Given the description of an element on the screen output the (x, y) to click on. 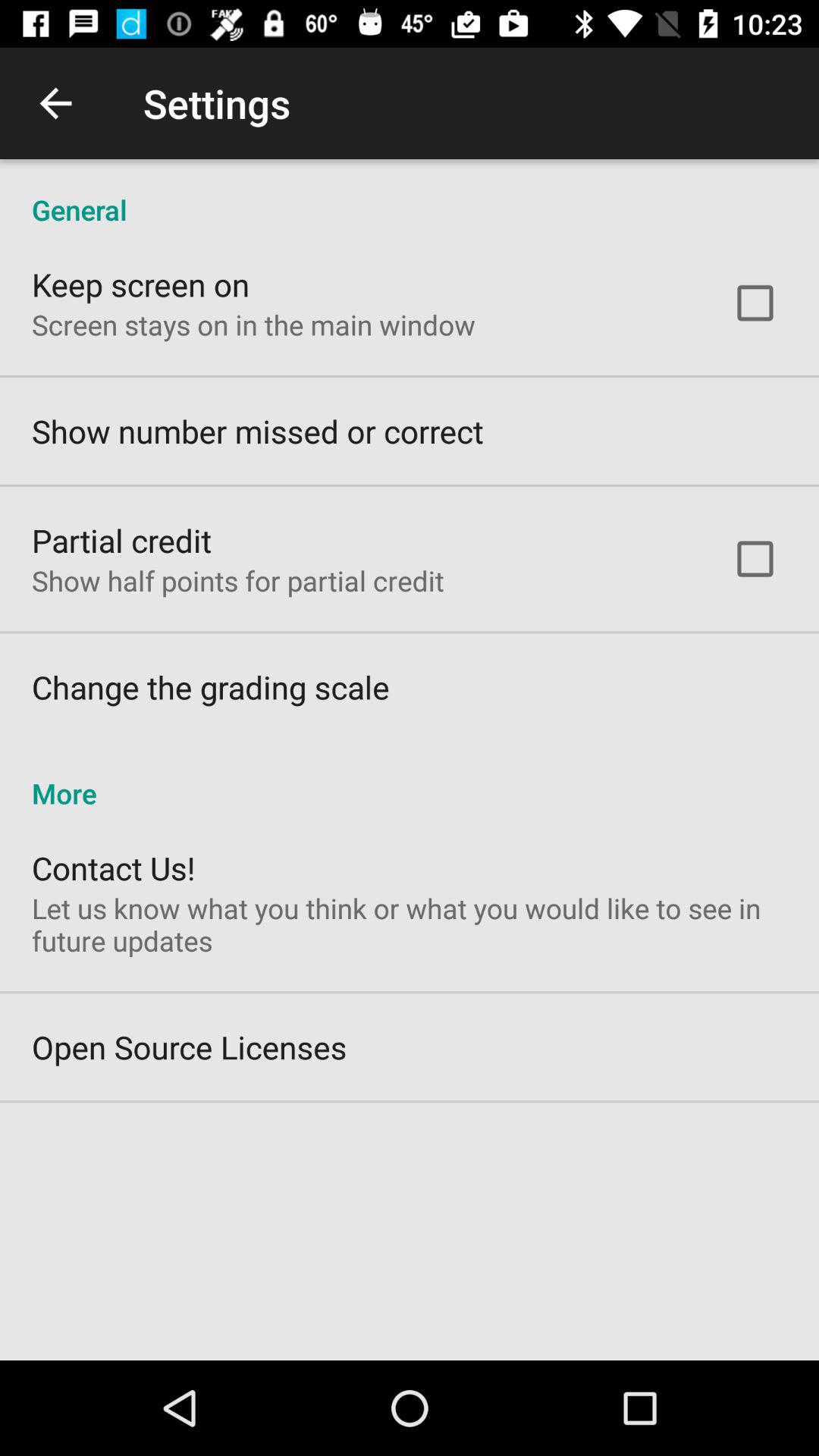
swipe until more item (409, 777)
